Given the description of an element on the screen output the (x, y) to click on. 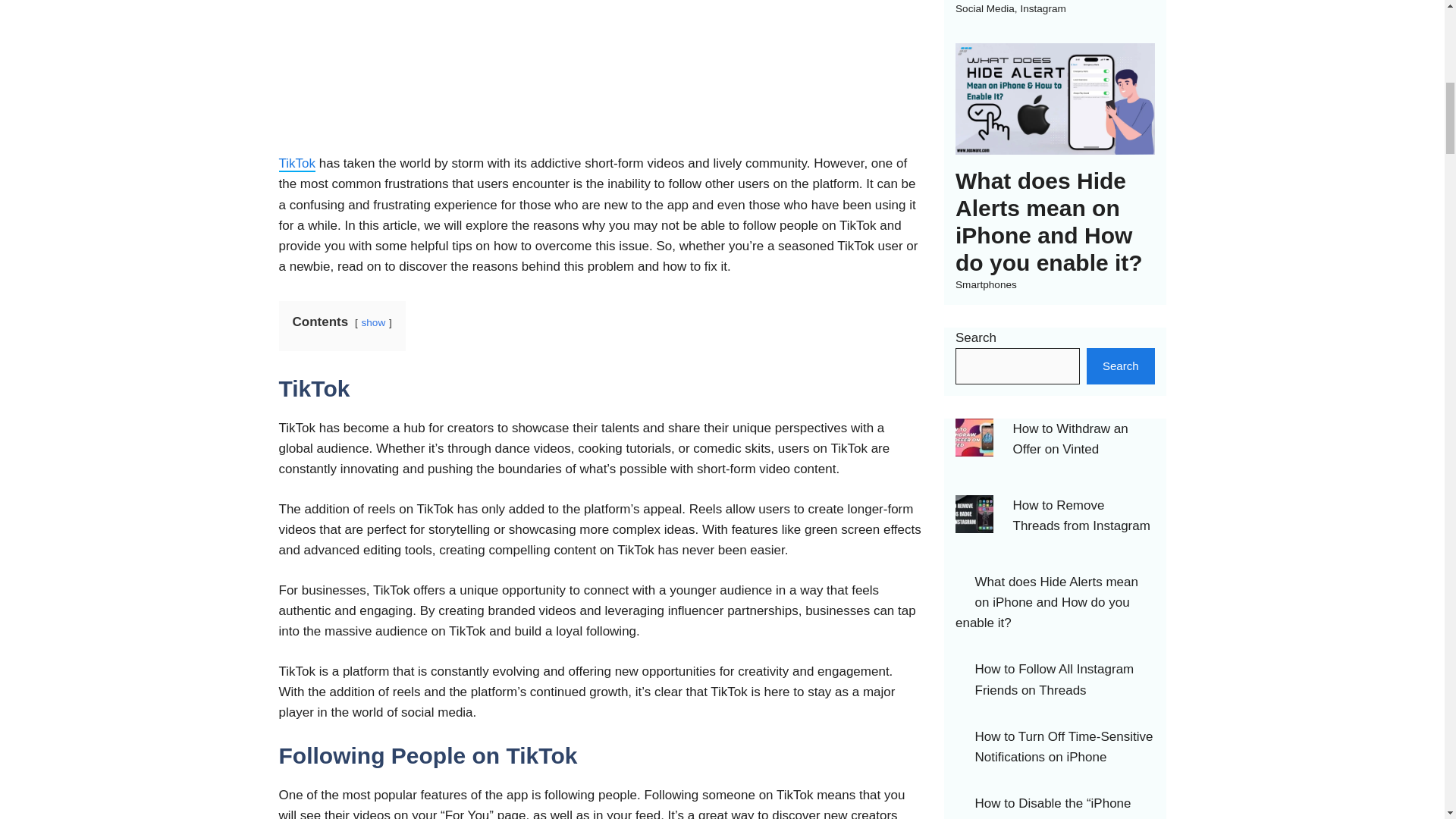
Advertisement (600, 73)
